Given the description of an element on the screen output the (x, y) to click on. 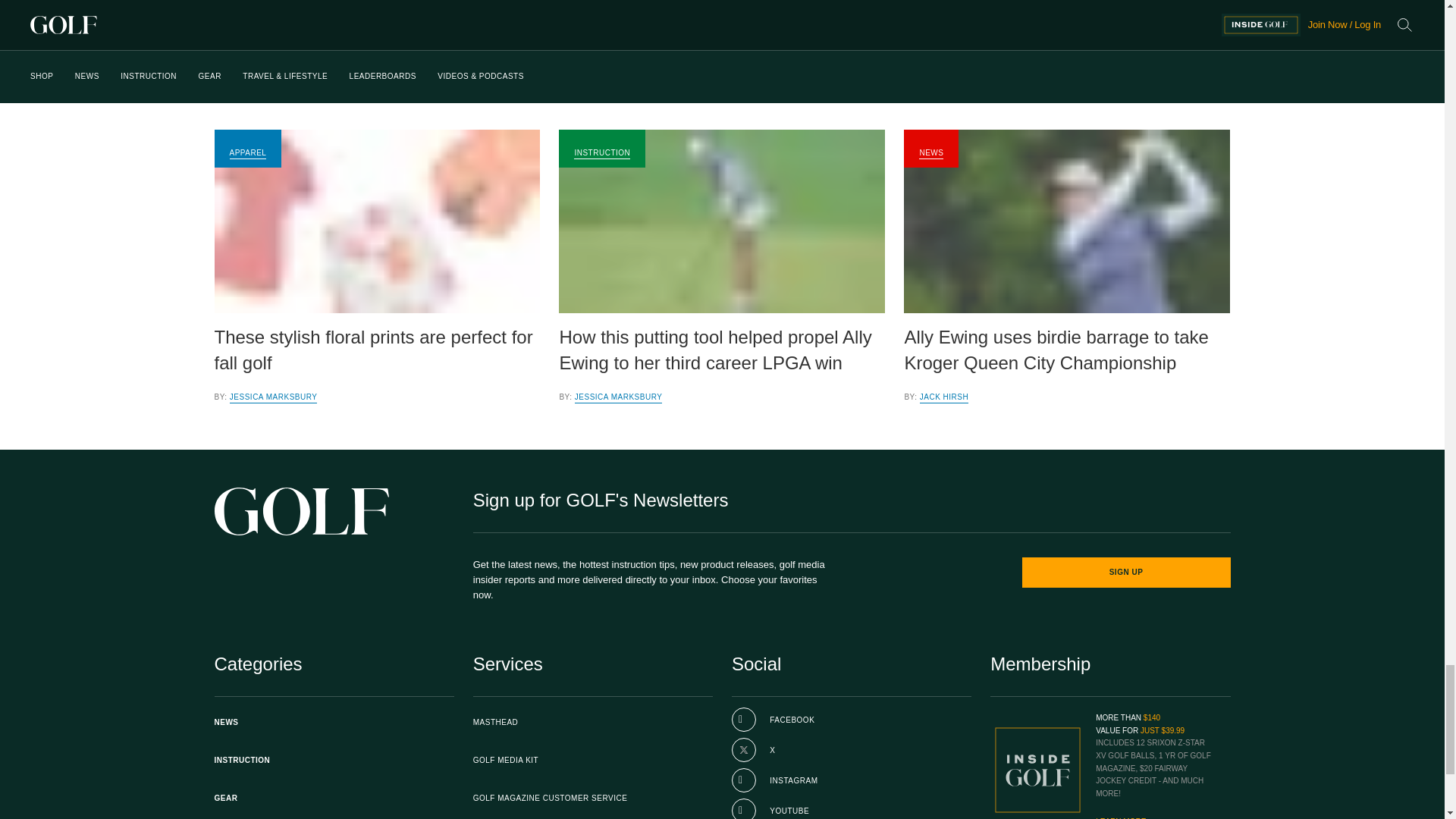
Golf logo. Back to home. (301, 511)
